Given the description of an element on the screen output the (x, y) to click on. 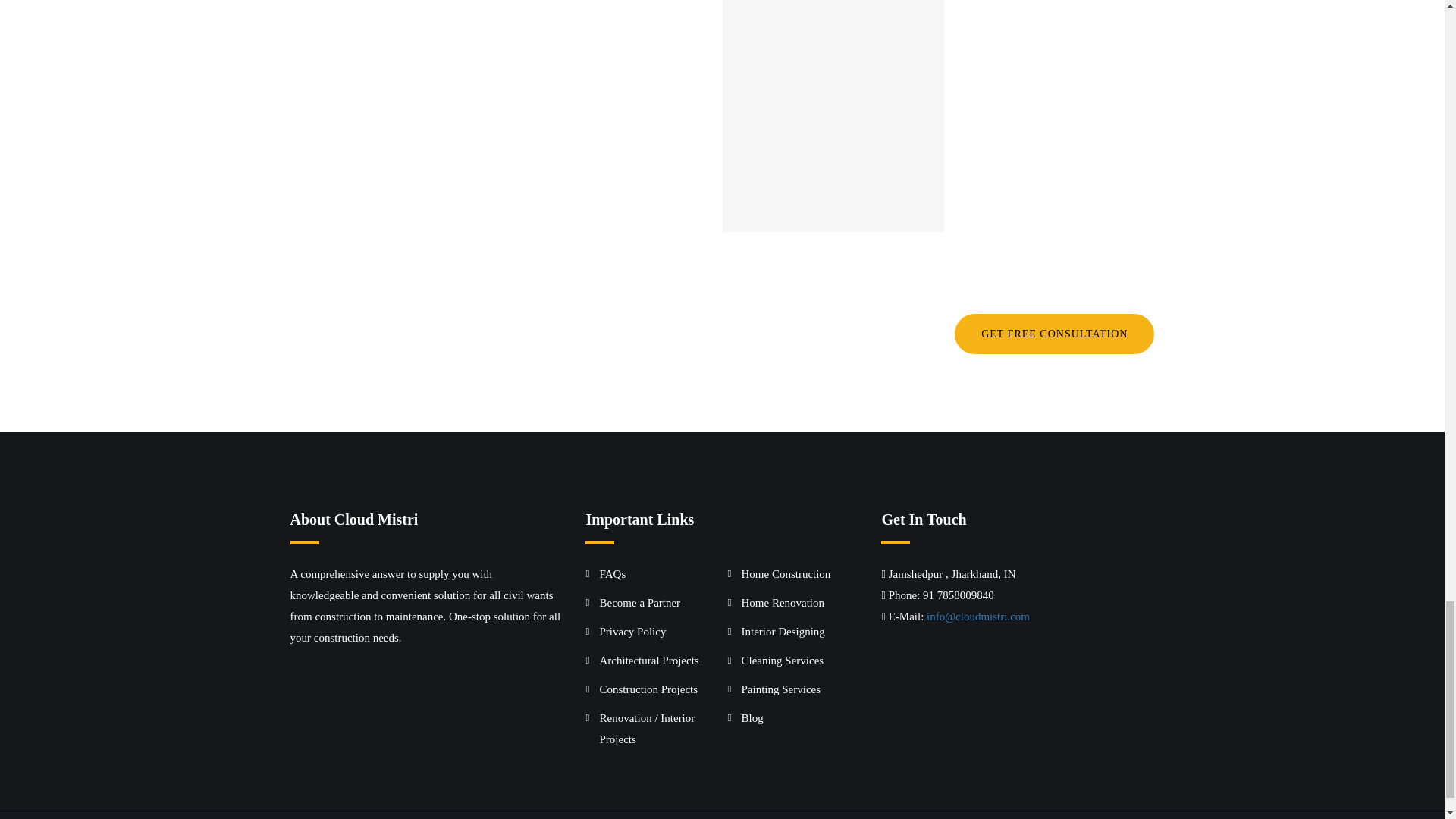
FAQs (612, 573)
Become a Partner (638, 603)
Home Construction (785, 573)
GET FREE CONSULTATION (1054, 333)
